Given the description of an element on the screen output the (x, y) to click on. 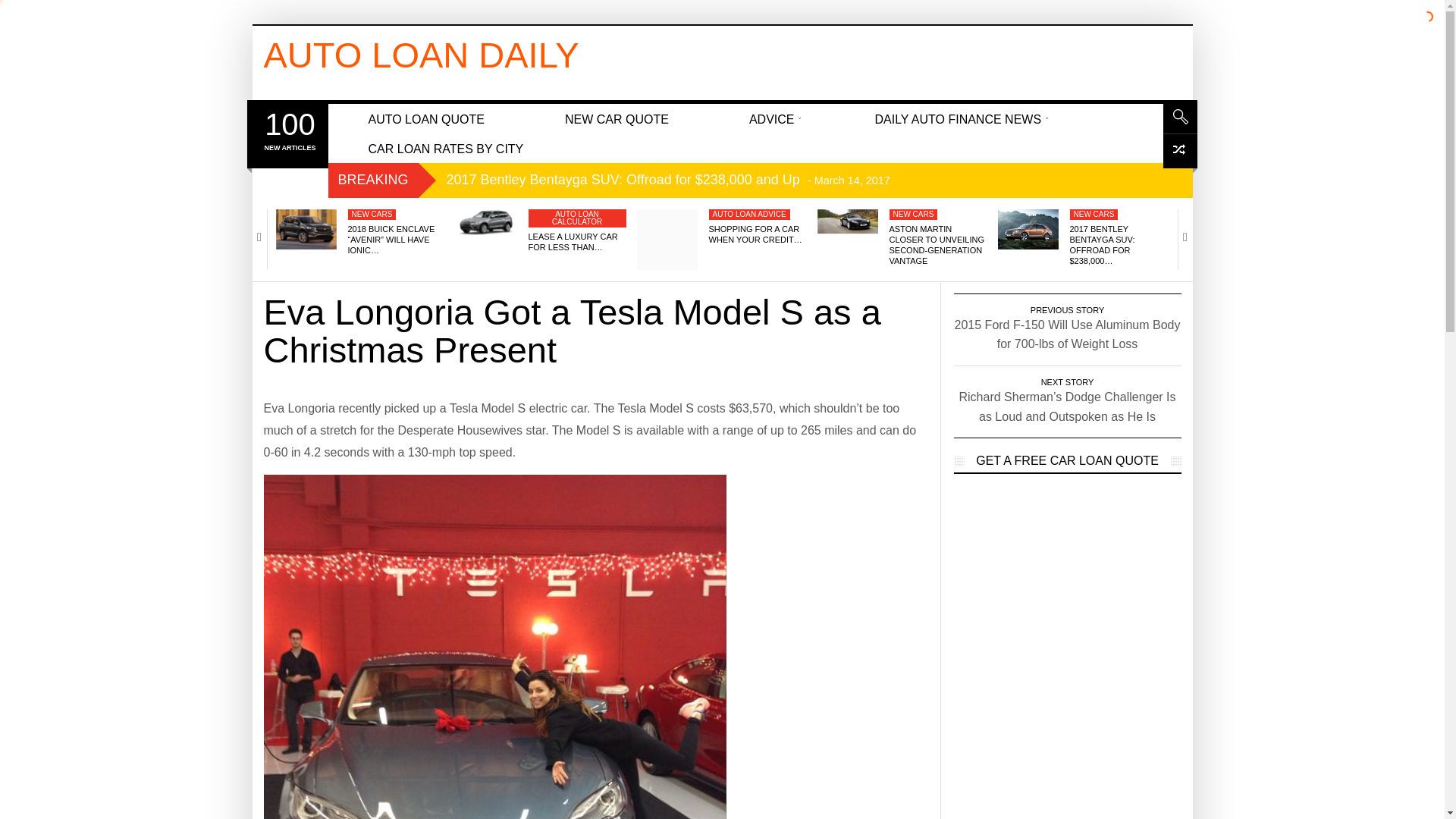
AUTO LOAN QUOTE (425, 118)
Advertisement (762, 59)
Auto Loan Daily (421, 54)
ADVICE (771, 118)
NEW CAR QUOTE (616, 118)
AUTO LOAN DAILY (421, 54)
